Given the description of an element on the screen output the (x, y) to click on. 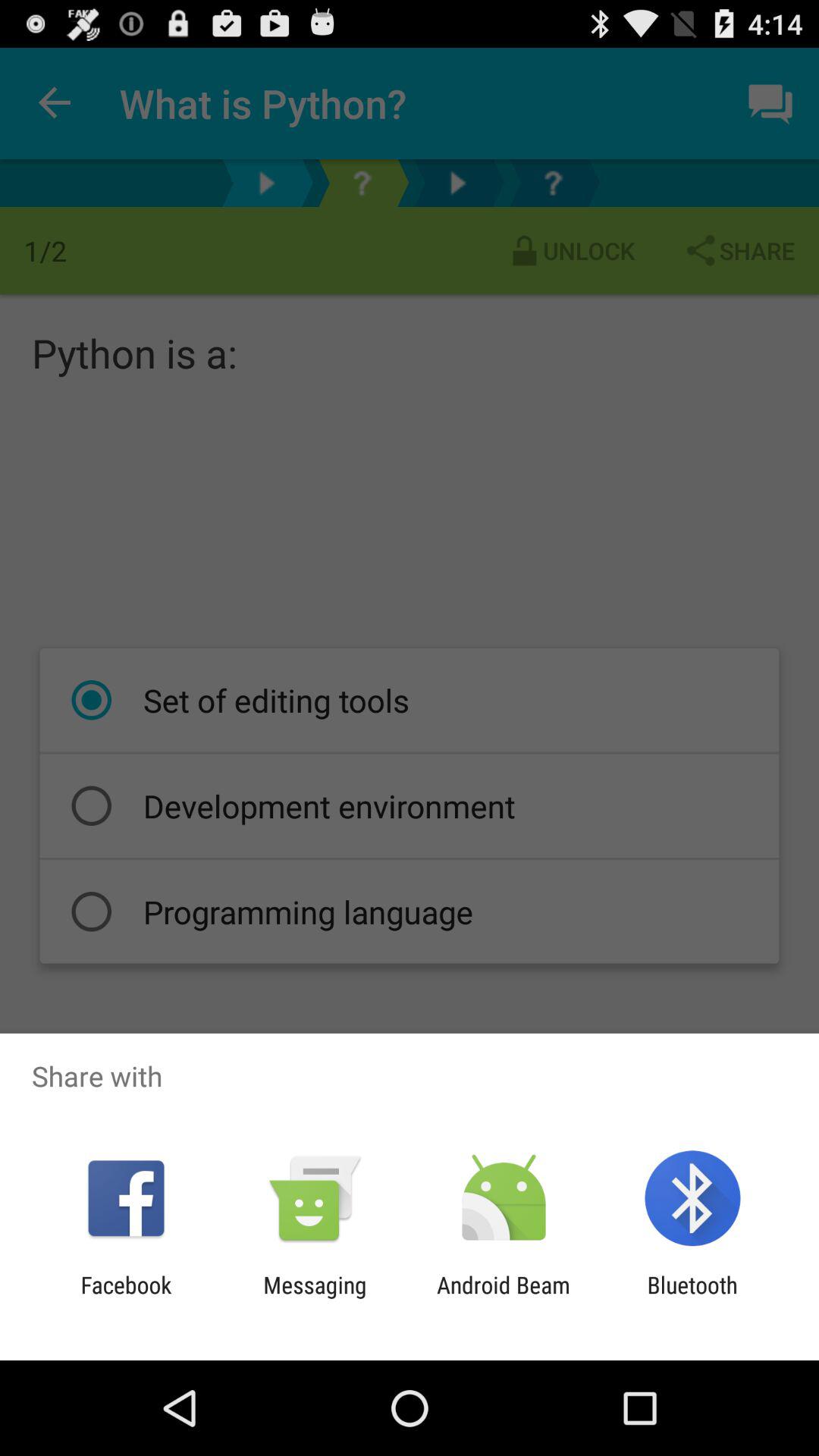
tap the item next to android beam (692, 1298)
